Given the description of an element on the screen output the (x, y) to click on. 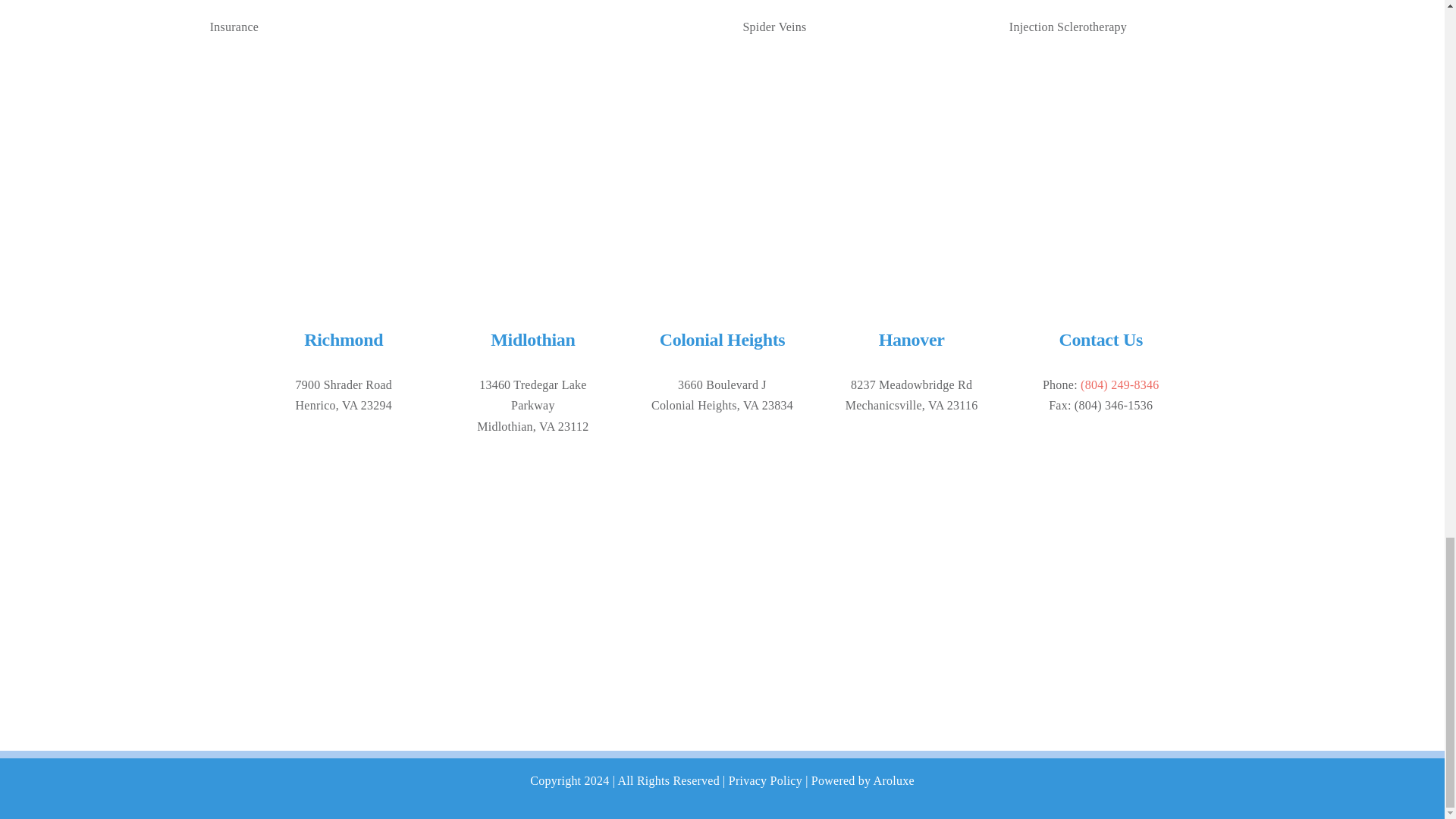
aaaasf-accredited-facility-web (343, 614)
RVC-Standard-Web2 (721, 180)
